Given the description of an element on the screen output the (x, y) to click on. 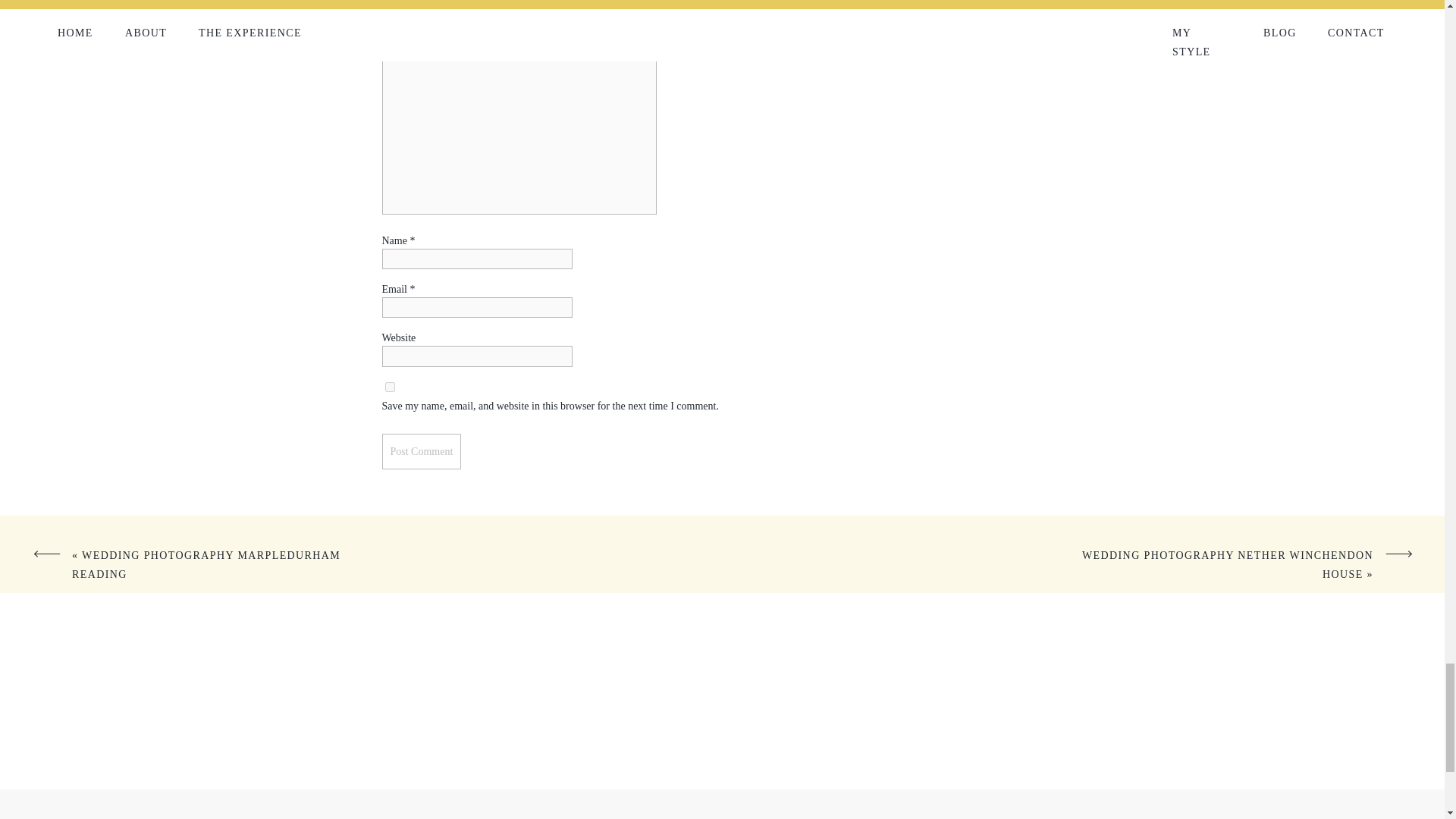
WEDDING PHOTOGRAPHY MARPLEDURHAM READING (205, 564)
yes (389, 387)
Post Comment (421, 451)
Post Comment (421, 451)
WEDDING PHOTOGRAPHY NETHER WINCHENDON HOUSE (1227, 564)
